Given the description of an element on the screen output the (x, y) to click on. 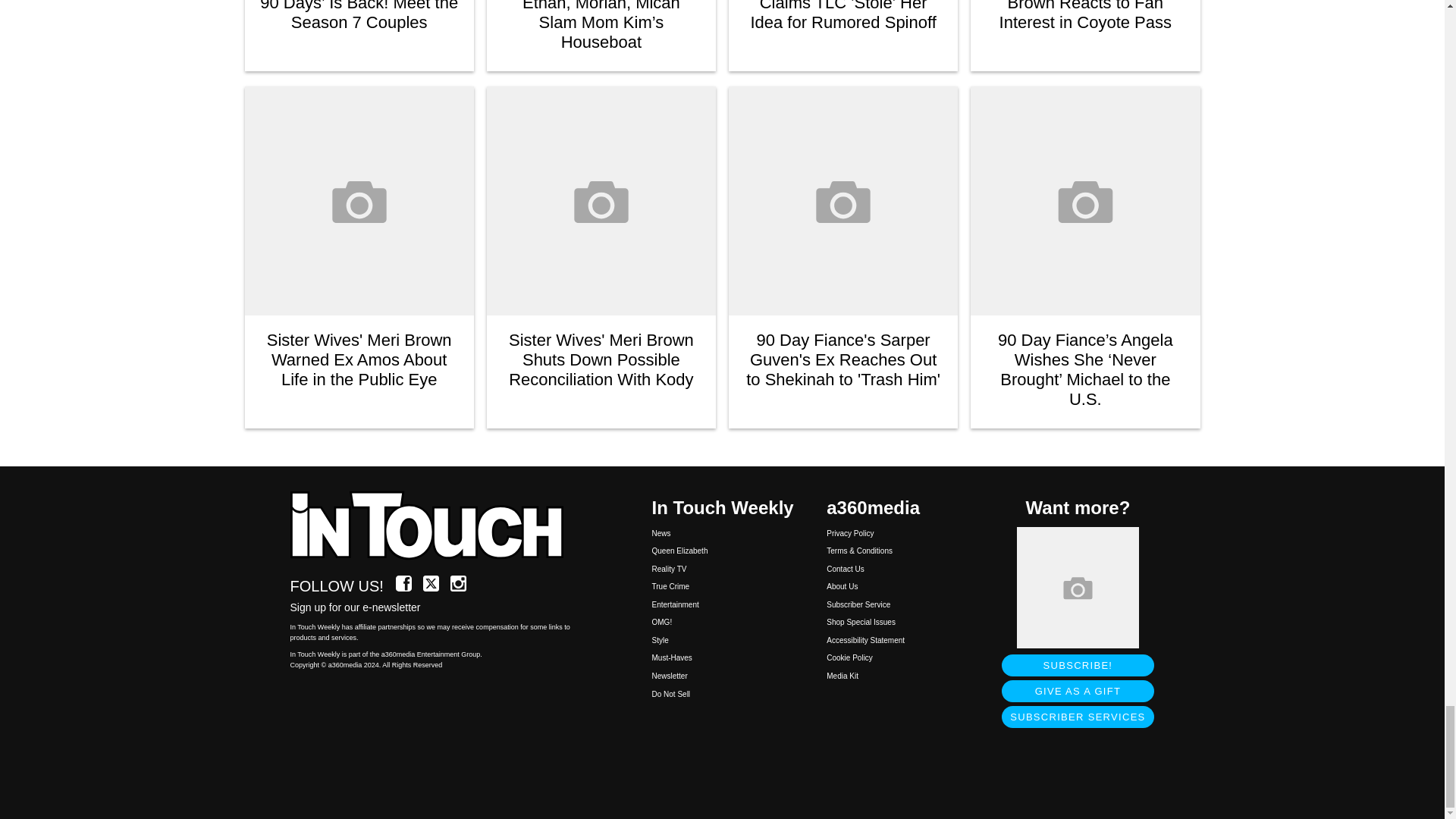
Home (434, 526)
